Given the description of an element on the screen output the (x, y) to click on. 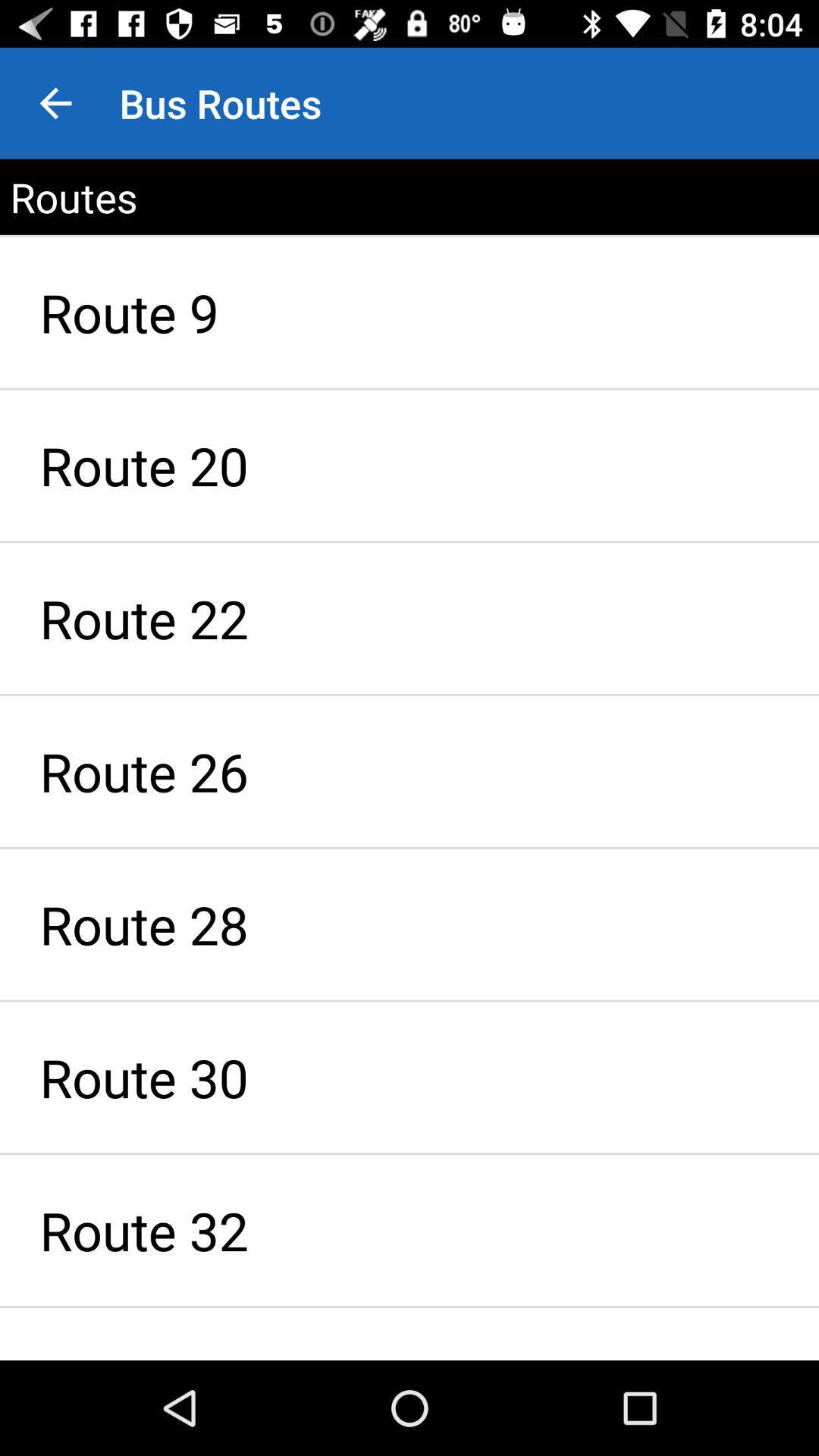
open route 33 icon (409, 1334)
